Given the description of an element on the screen output the (x, y) to click on. 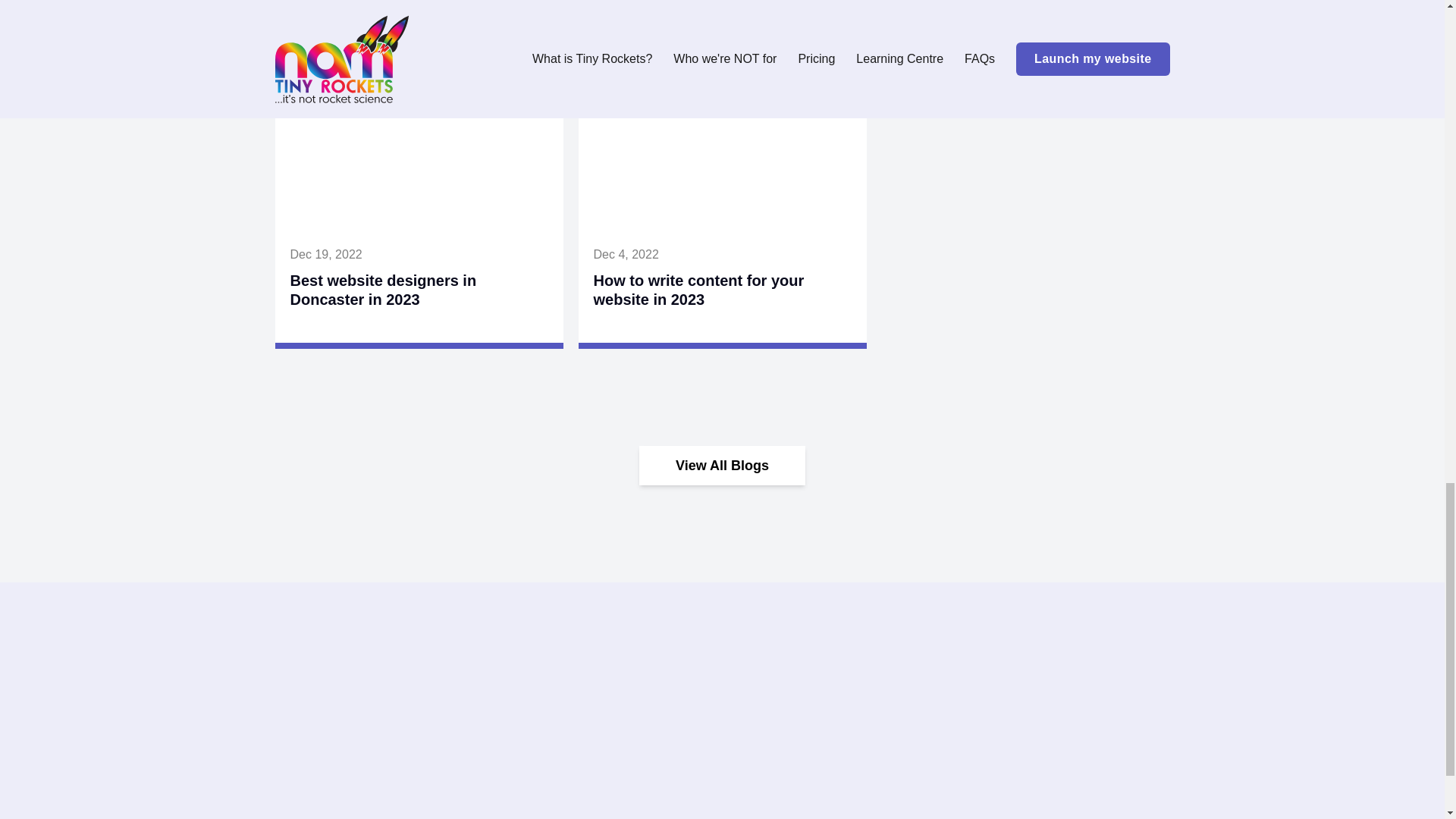
Best website designers in Doncaster in 2023 (382, 289)
Do I Really Need a Website for My Business in 2023? (410, 8)
What can go wrong with my website? (692, 8)
View All Blogs (722, 465)
How to write content for your website in 2023 (697, 289)
How much does a website cost for small businesses in 2023? (1020, 8)
